Given the description of an element on the screen output the (x, y) to click on. 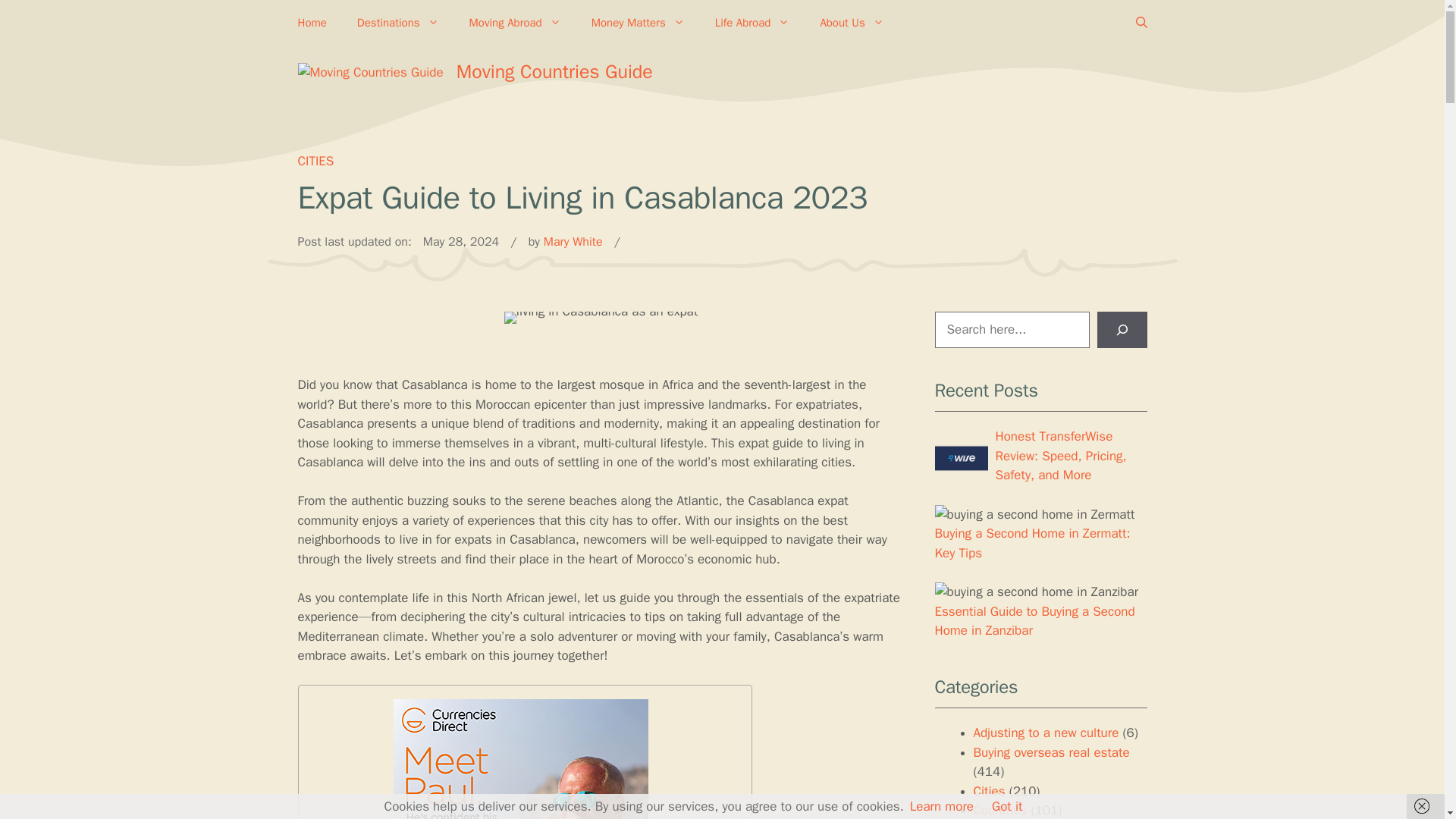
Home (311, 22)
Mary White (572, 241)
Moving Countries Guide (554, 71)
Life Abroad (752, 22)
Destinations (398, 22)
CITIES (315, 160)
About Us (851, 22)
Moving Abroad (515, 22)
Money Matters (638, 22)
